Given the description of an element on the screen output the (x, y) to click on. 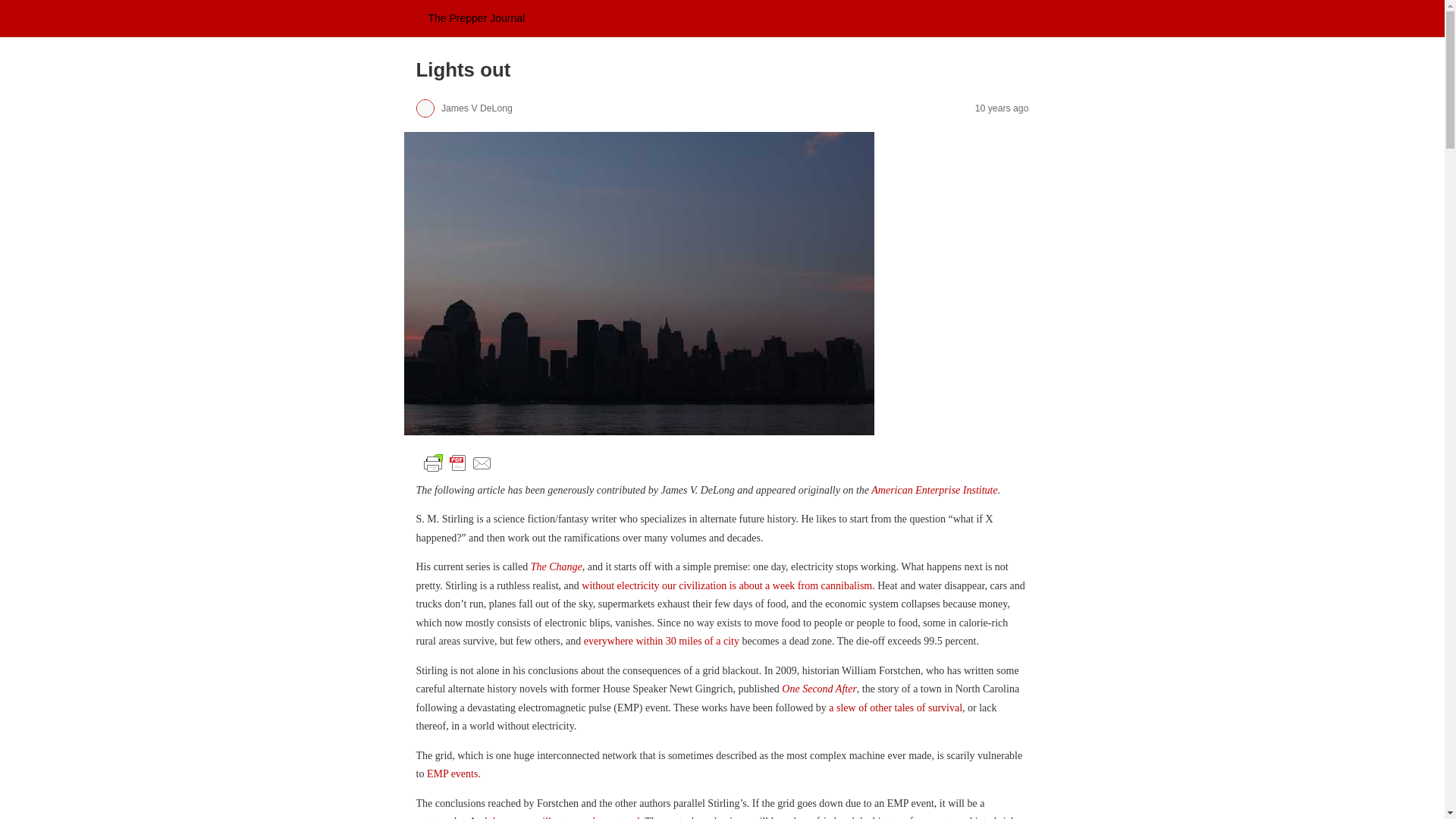
Lights out 1 (456, 463)
everywhere within 30 miles of a city (661, 641)
32 Must Have Prepper Books (895, 707)
EMP events (452, 773)
Is it Crazy to Worry About the Golden Horde? (661, 641)
a slew of other tales of survival (895, 707)
The Prepper Journal (476, 18)
Understanding EMP: What Preppers Should Know (452, 773)
the power will not soon be restored (564, 817)
